Given the description of an element on the screen output the (x, y) to click on. 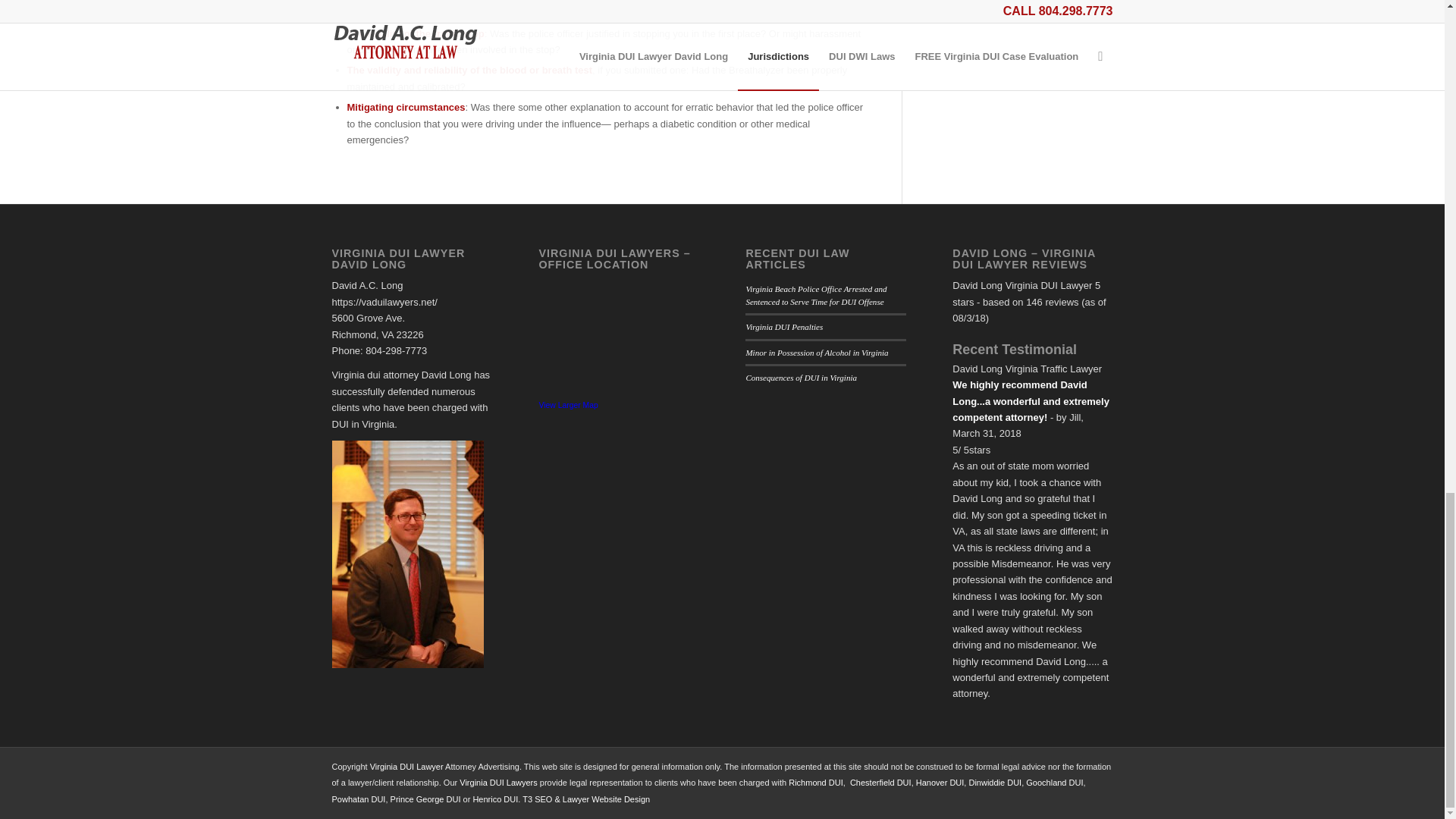
Henrico DUI (494, 798)
View Larger Map (567, 405)
Affordable Virginia DUI DWI Law Firm (498, 782)
Hanover DUI (939, 782)
Chesterfield (880, 782)
Richmond DUI (816, 782)
Prince George DUI (425, 798)
Goochland DUI (1054, 782)
Chesterfield DUI (880, 782)
Virginia DUI Penalties (783, 326)
Virginia DUI Lawyer (406, 766)
Minor in Possession of Alcohol in Virginia (816, 352)
Virginia DUI Lawyers (498, 782)
Consequences of DUI in Virginia (801, 377)
